Given the description of an element on the screen output the (x, y) to click on. 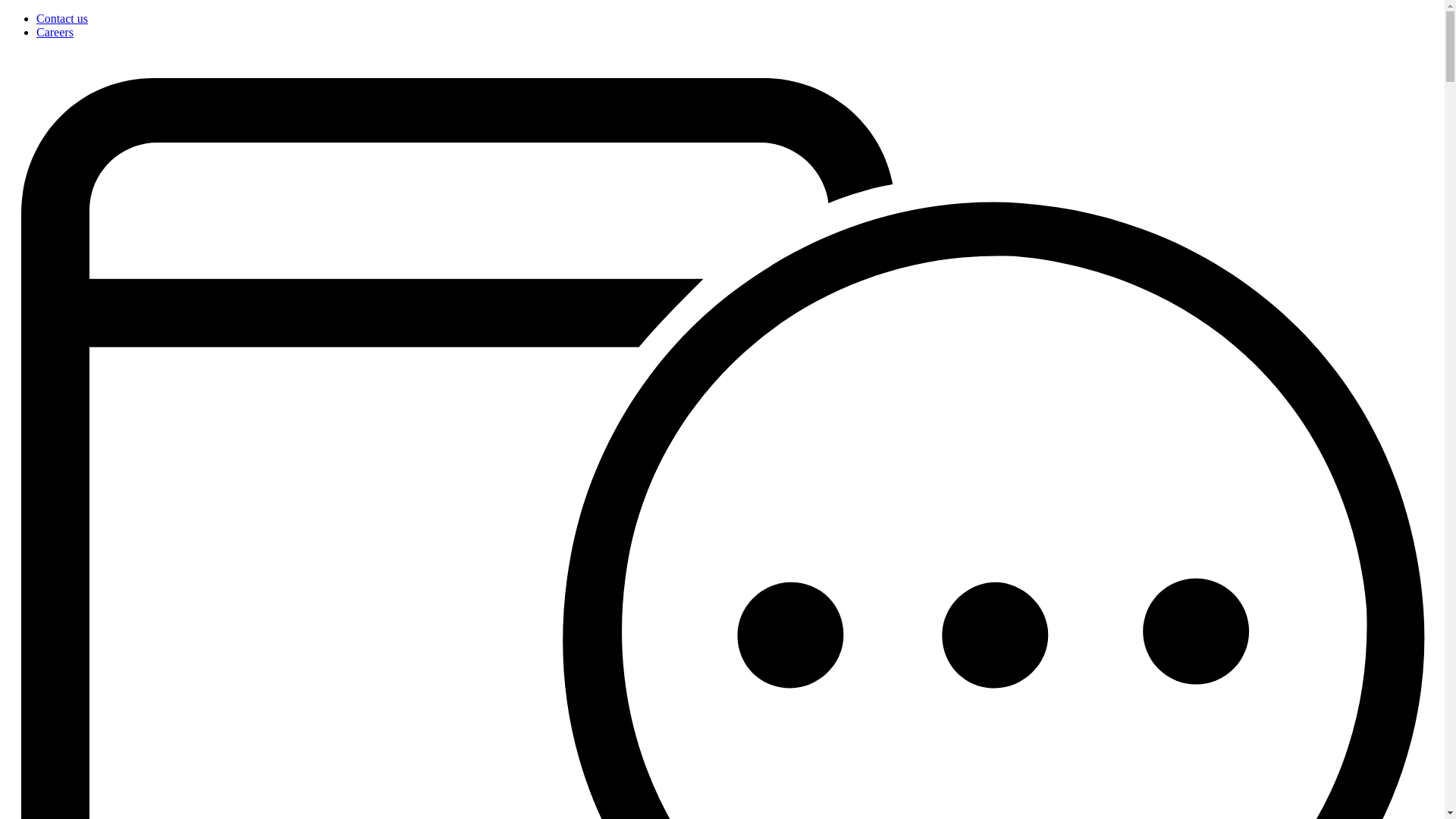
Careers (55, 31)
Contact us (61, 18)
